Given the description of an element on the screen output the (x, y) to click on. 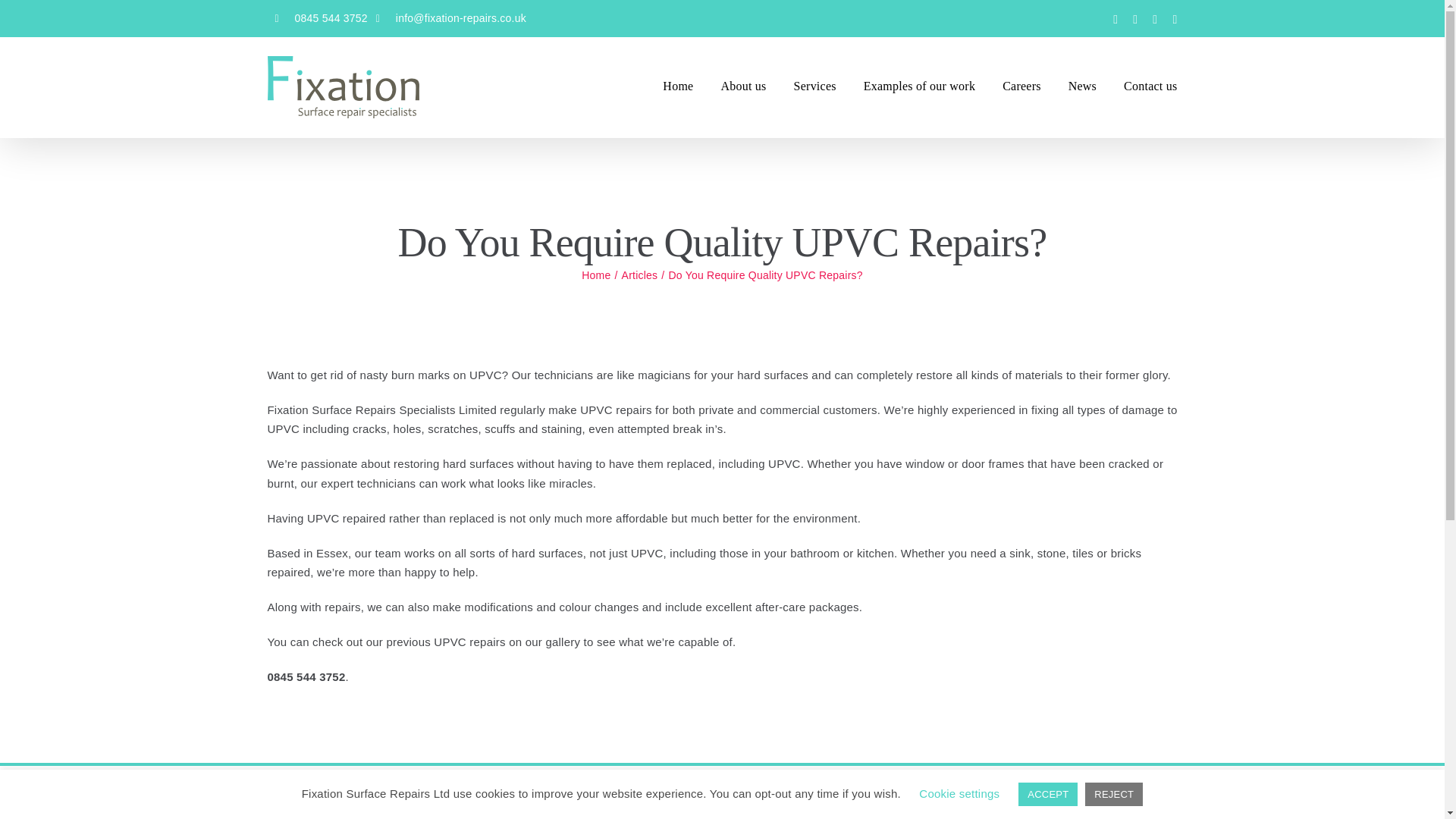
Home (595, 275)
0845 544 3752 (316, 18)
Articles (639, 275)
Examples of our work (919, 85)
